Given the description of an element on the screen output the (x, y) to click on. 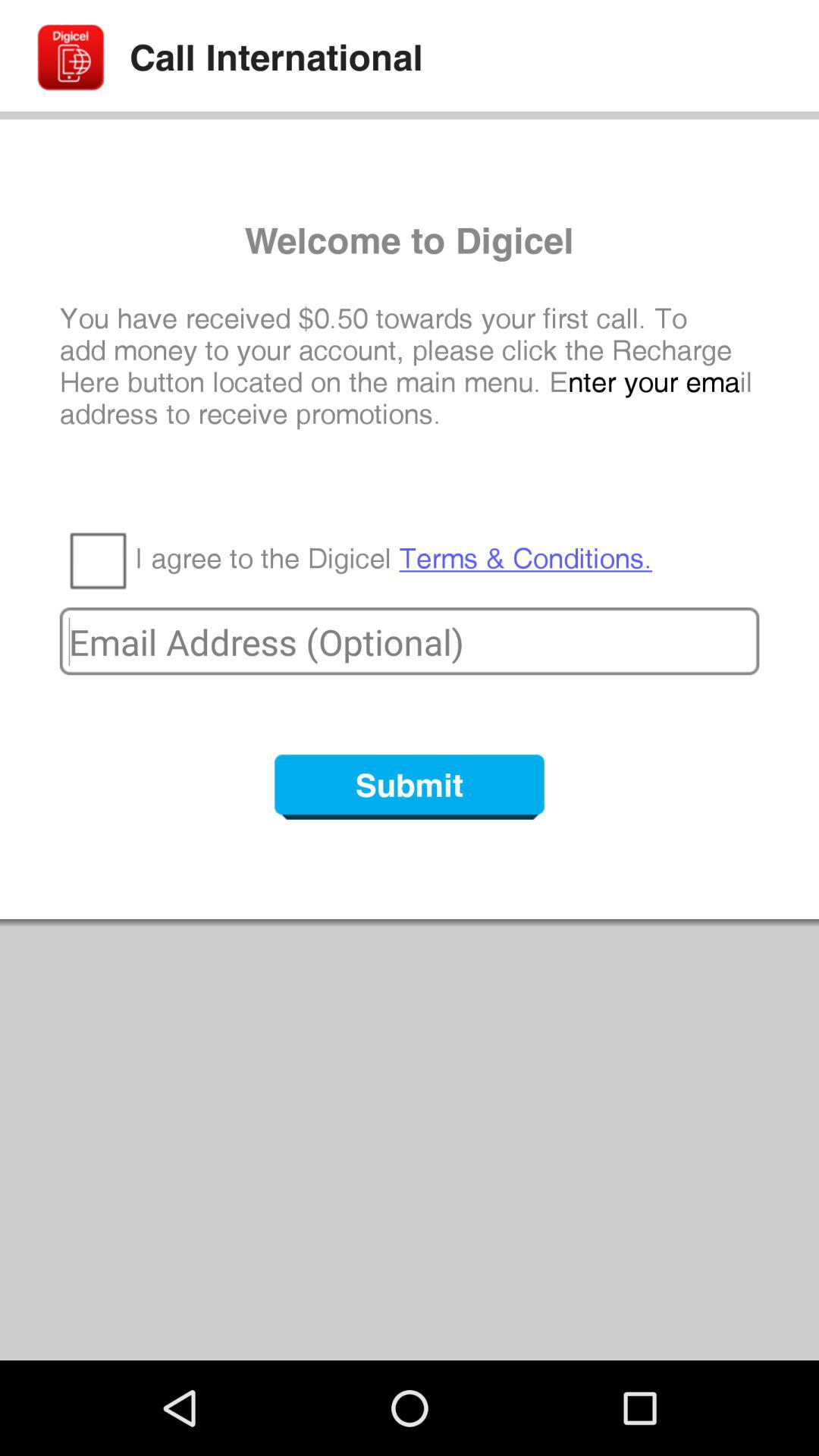
shows enter emil area (409, 641)
